Given the description of an element on the screen output the (x, y) to click on. 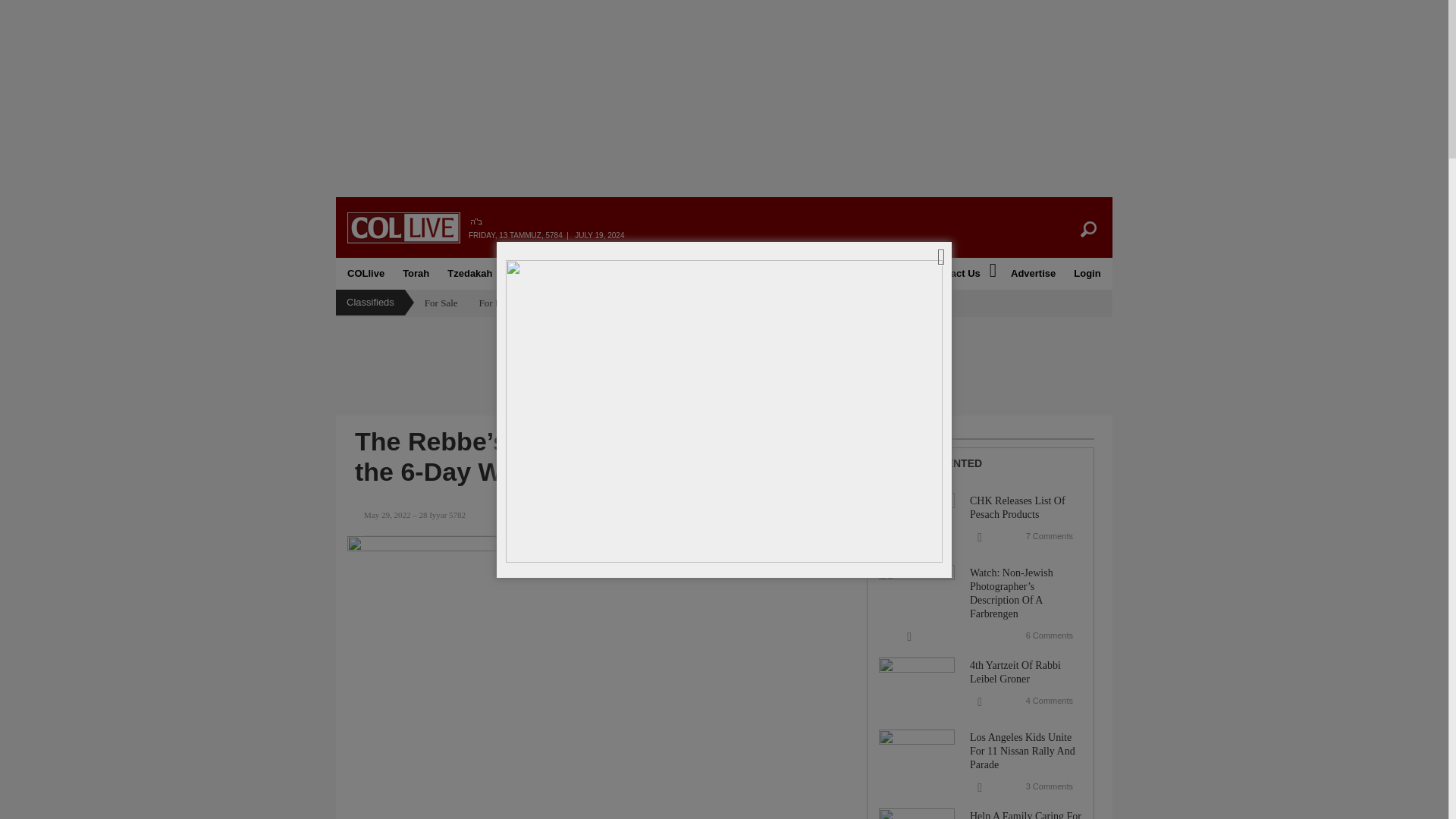
Search (1097, 229)
Videos (732, 273)
COLlive (365, 273)
Events Calendar (871, 273)
Mazel Tovs (672, 273)
Op-Eds (797, 273)
Kids (559, 273)
Torah (415, 273)
Tzedakah (469, 273)
Contact Us (954, 273)
Live (521, 273)
Simchas (608, 273)
Advertise (1032, 273)
